Given the description of an element on the screen output the (x, y) to click on. 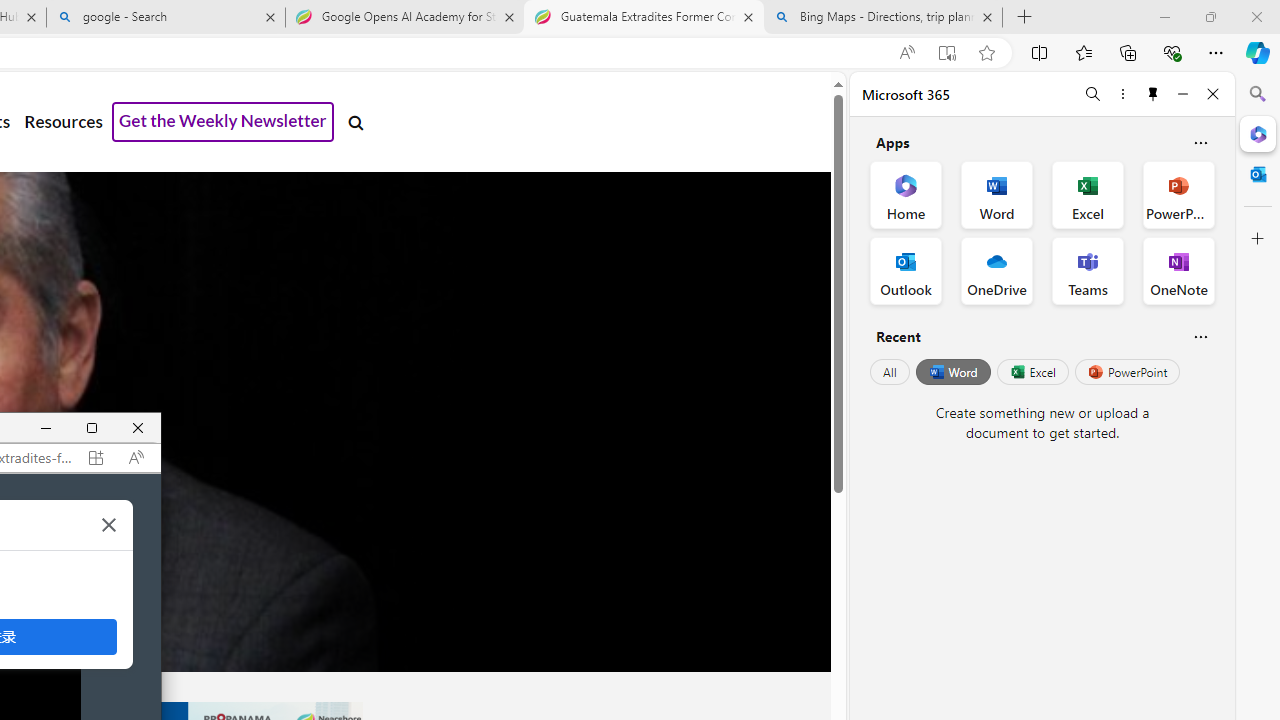
OneNote Office App (1178, 270)
Excel (1031, 372)
All (890, 372)
Get the Weekly Newsletter (223, 121)
Class: Bz112c Bz112c-r9oPif (109, 524)
